Given the description of an element on the screen output the (x, y) to click on. 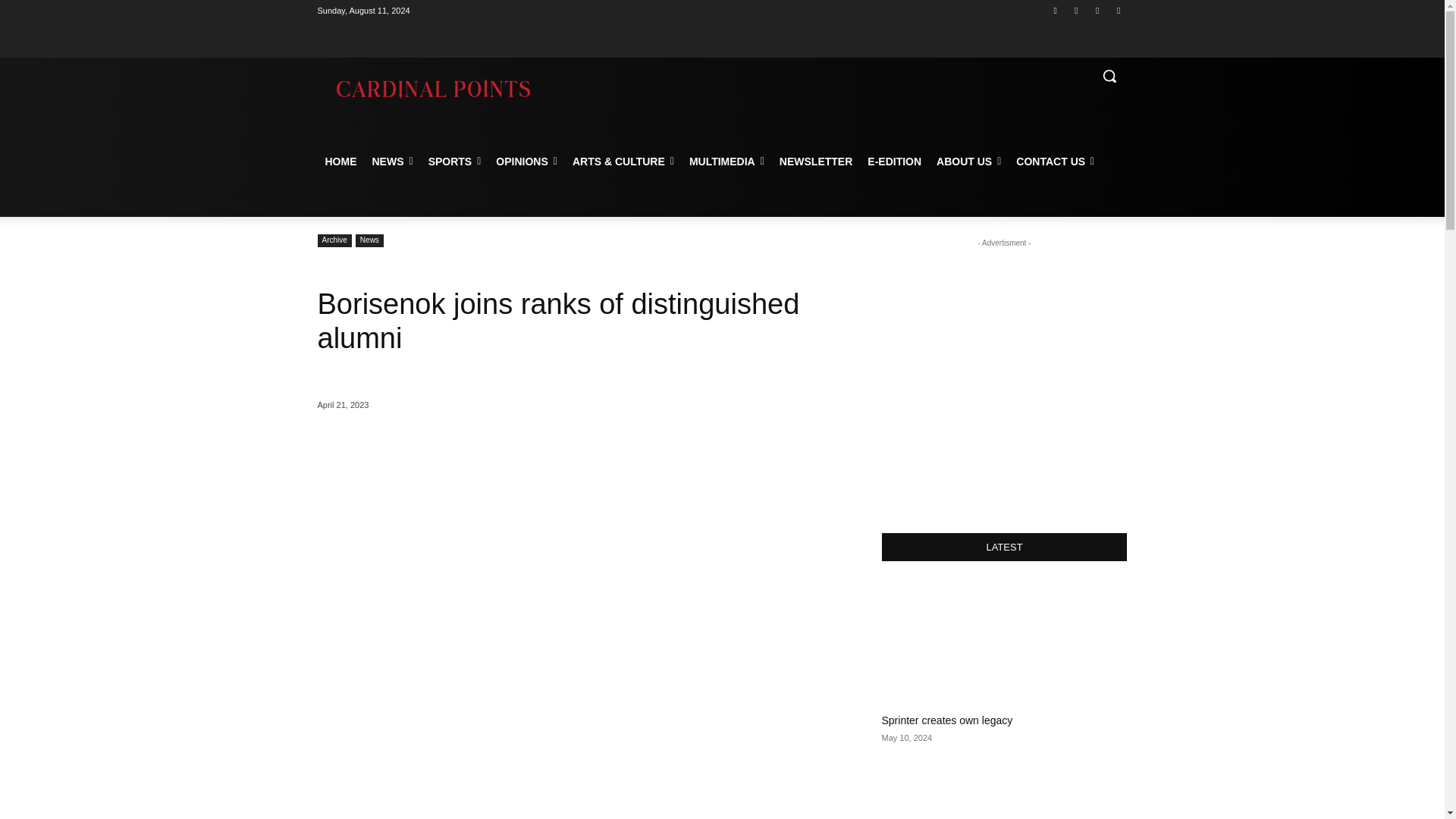
NEWS (392, 161)
HOME (340, 161)
Twitter (1097, 9)
Facebook (1055, 9)
Instagram (1075, 9)
SPORTS (454, 161)
Youtube (1117, 9)
